Given the description of an element on the screen output the (x, y) to click on. 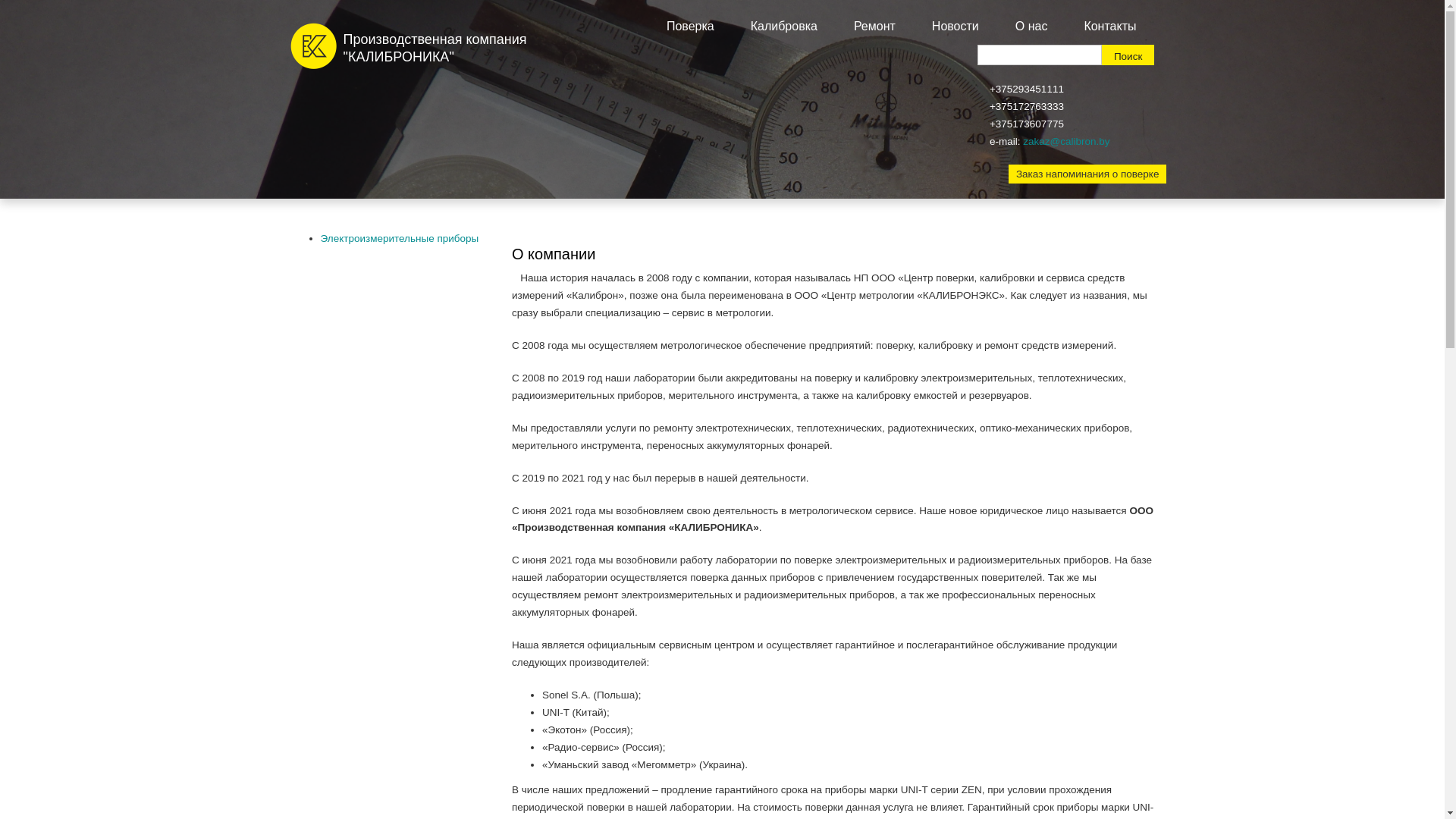
zakaz@calibron.by Element type: text (1065, 141)
Home Element type: hover (312, 44)
Enter the terms you wish to search for. Element type: hover (1039, 54)
